Given the description of an element on the screen output the (x, y) to click on. 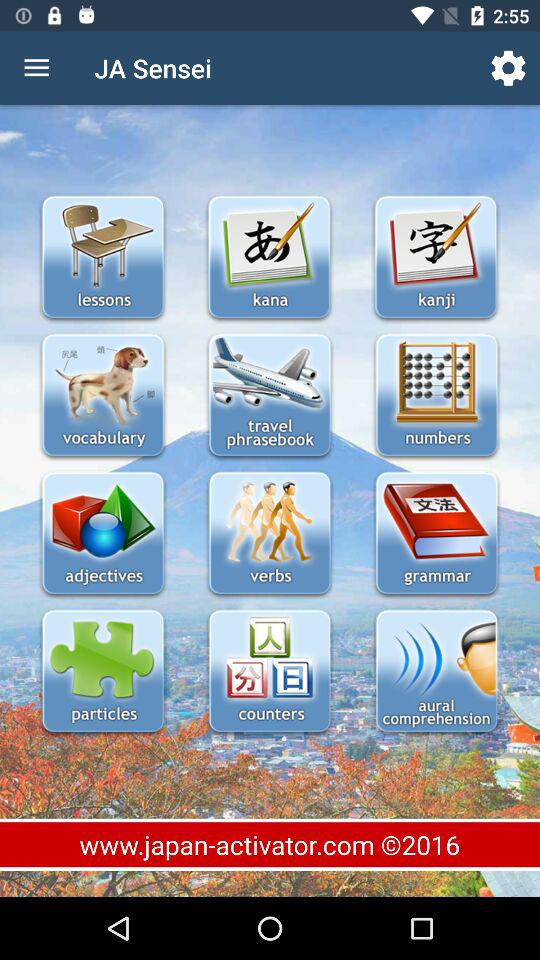
press button for kanji (435, 258)
